Given the description of an element on the screen output the (x, y) to click on. 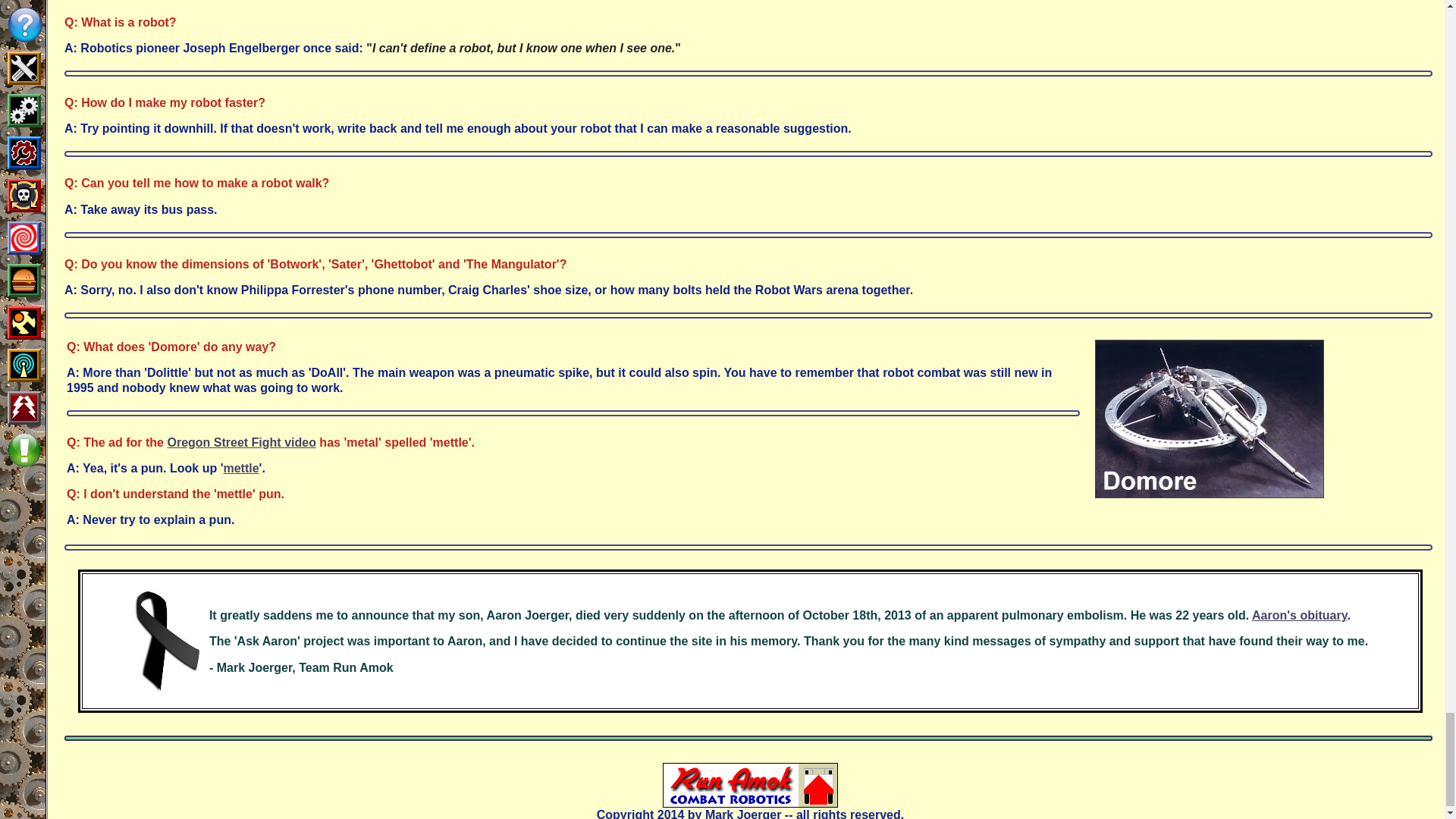
Aaron's obituary (1299, 615)
Oregon Street Fight video (241, 441)
mettle (240, 468)
